Given the description of an element on the screen output the (x, y) to click on. 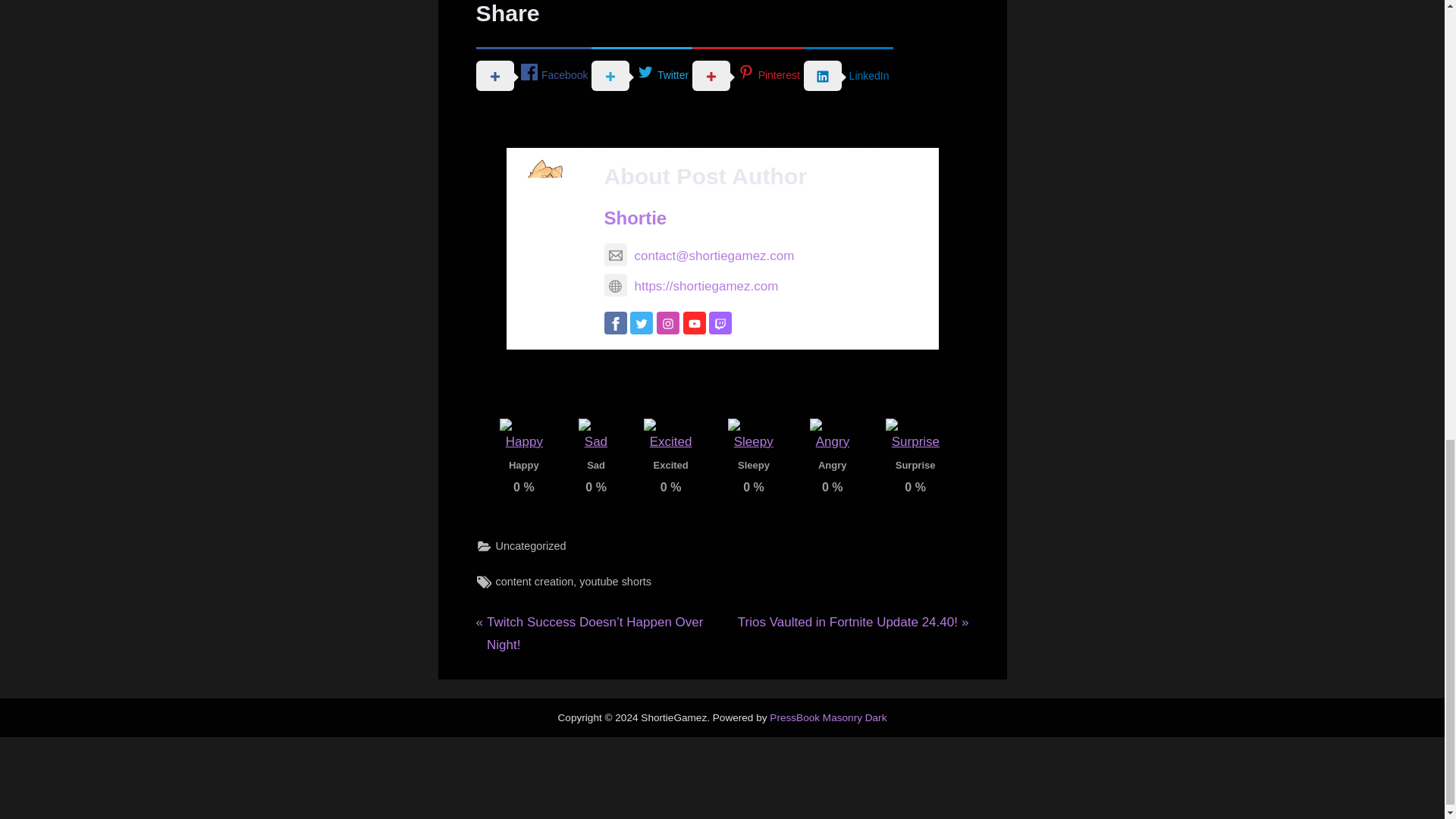
Shortie (635, 218)
LinkedIn (848, 74)
Pinterest (748, 74)
Facebook (534, 74)
Twitter (642, 74)
